Given the description of an element on the screen output the (x, y) to click on. 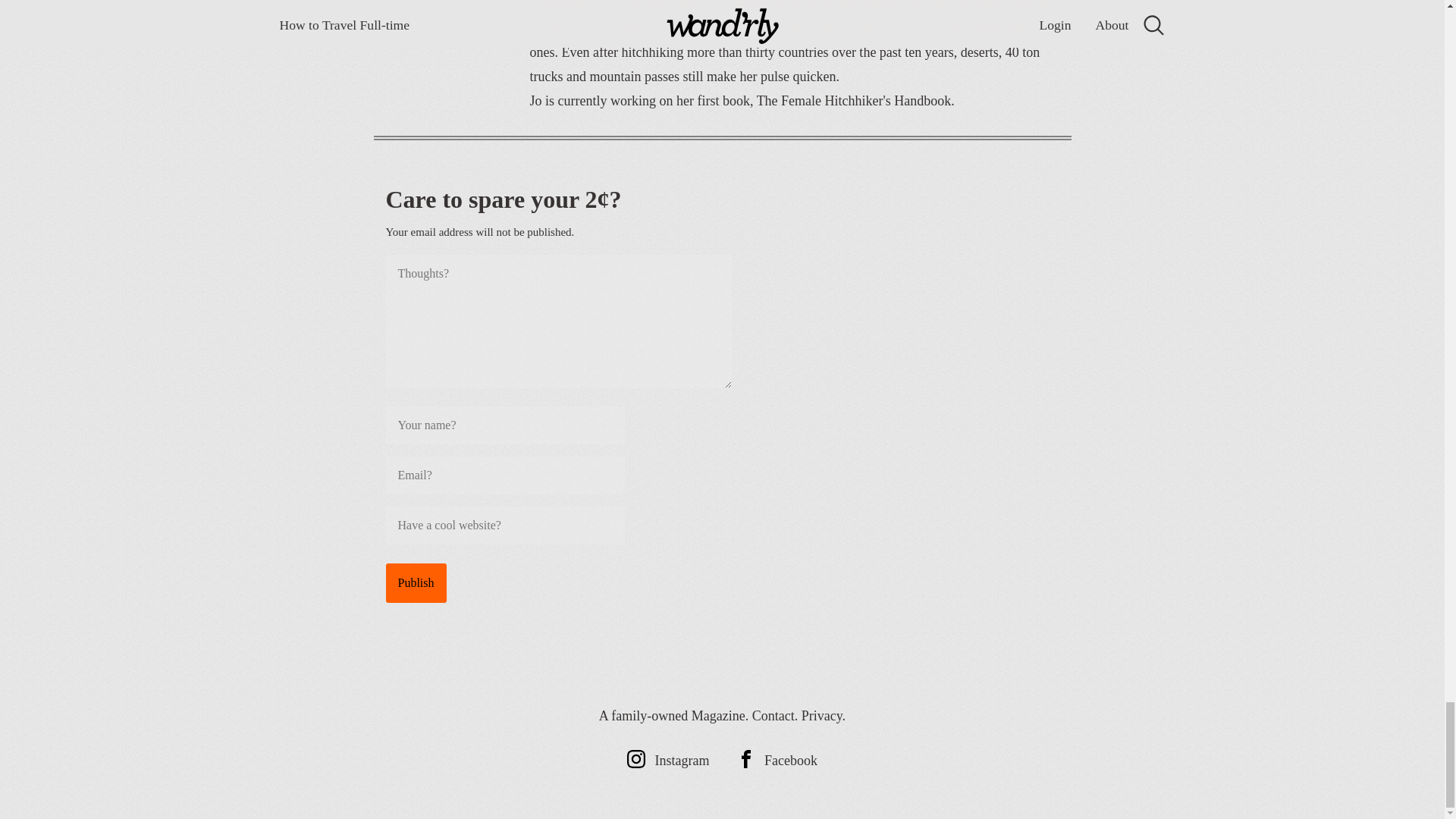
Publish (415, 582)
Facebook (776, 760)
Contact. (774, 715)
Instagram (668, 760)
Publish (415, 582)
Privacy. (823, 715)
A family-owned Magazine. (673, 715)
